Given the description of an element on the screen output the (x, y) to click on. 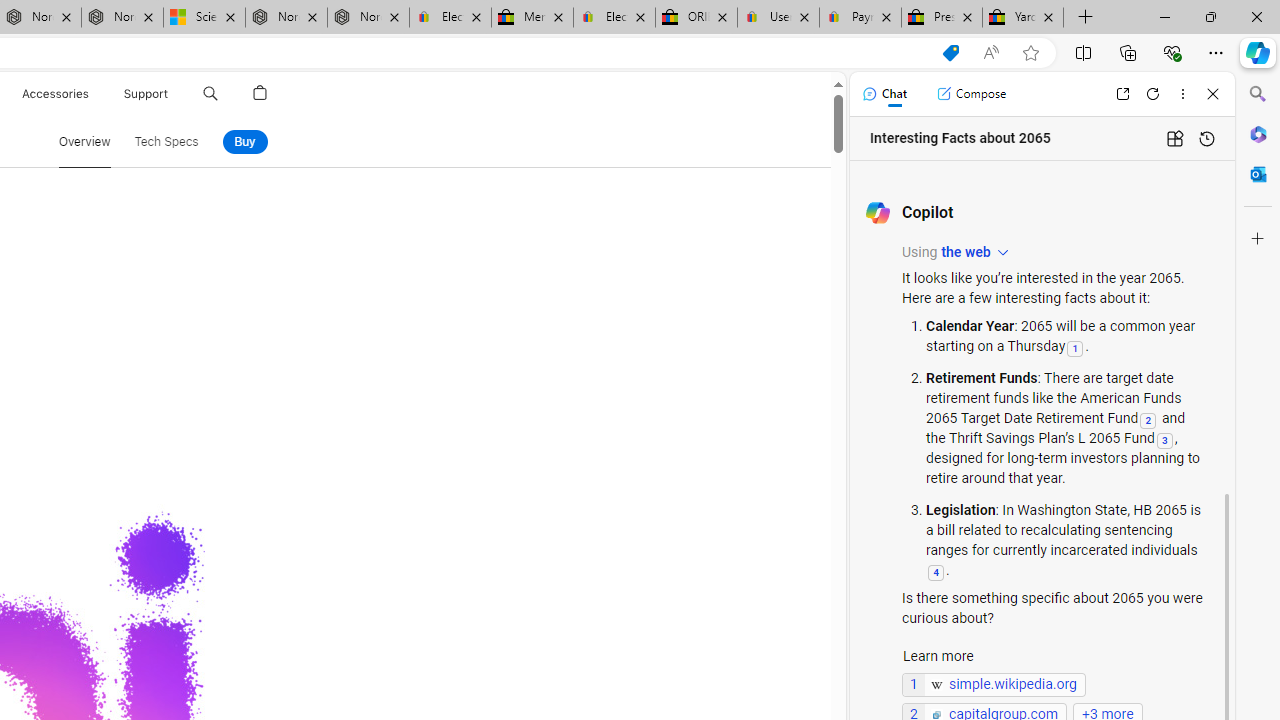
Compose (971, 93)
Buy HomePod mini (244, 142)
Tech Specs (166, 141)
AutomationID: globalnav-bag (260, 93)
Overview (84, 141)
Support (146, 93)
Overview (84, 141)
